Given the description of an element on the screen output the (x, y) to click on. 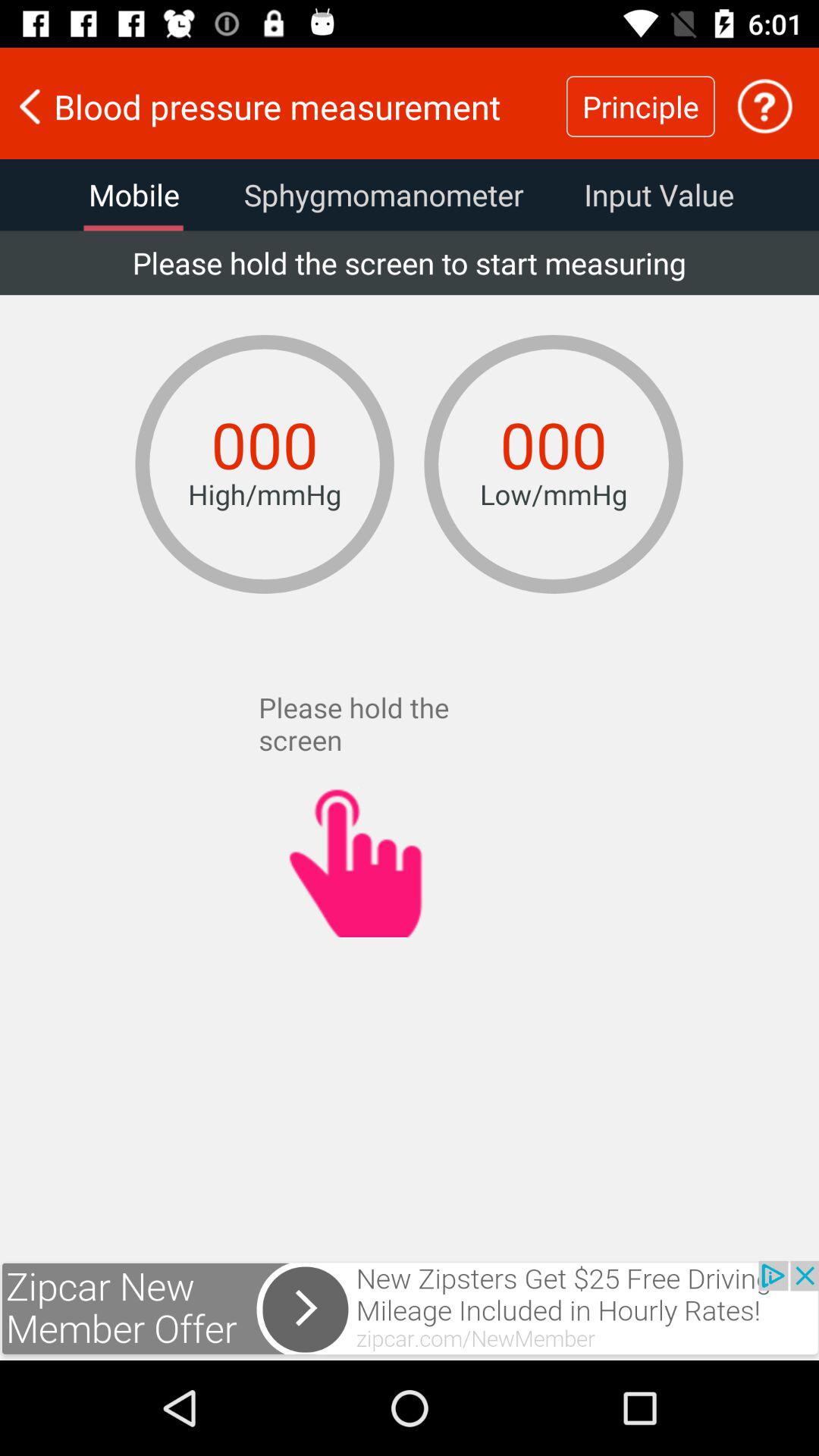
click to the help icone (764, 106)
